Given the description of an element on the screen output the (x, y) to click on. 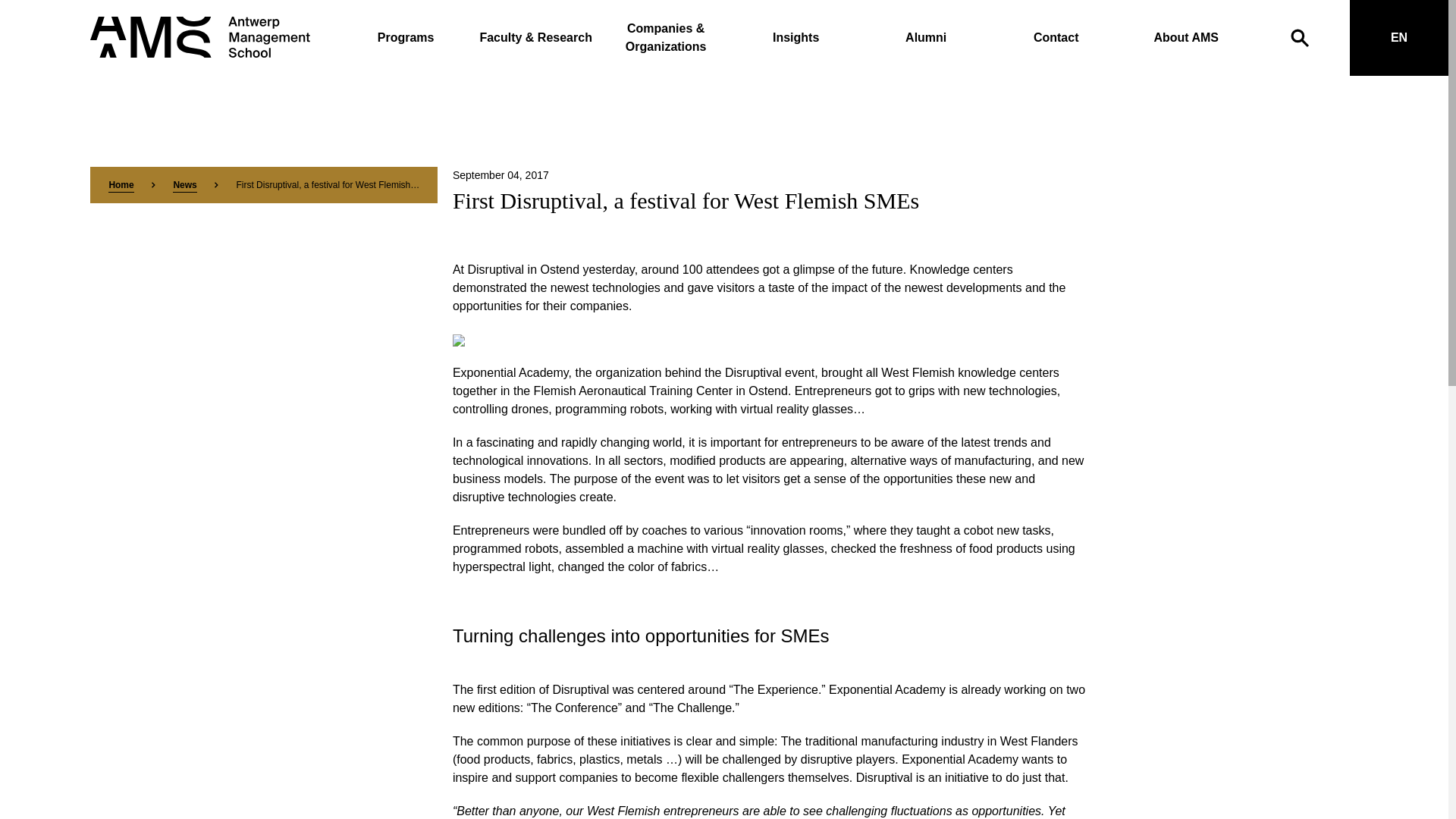
Programs (405, 38)
Alumni (925, 38)
Programs (405, 38)
Insights (795, 38)
Contact (1056, 38)
About AMS (1185, 38)
